Given the description of an element on the screen output the (x, y) to click on. 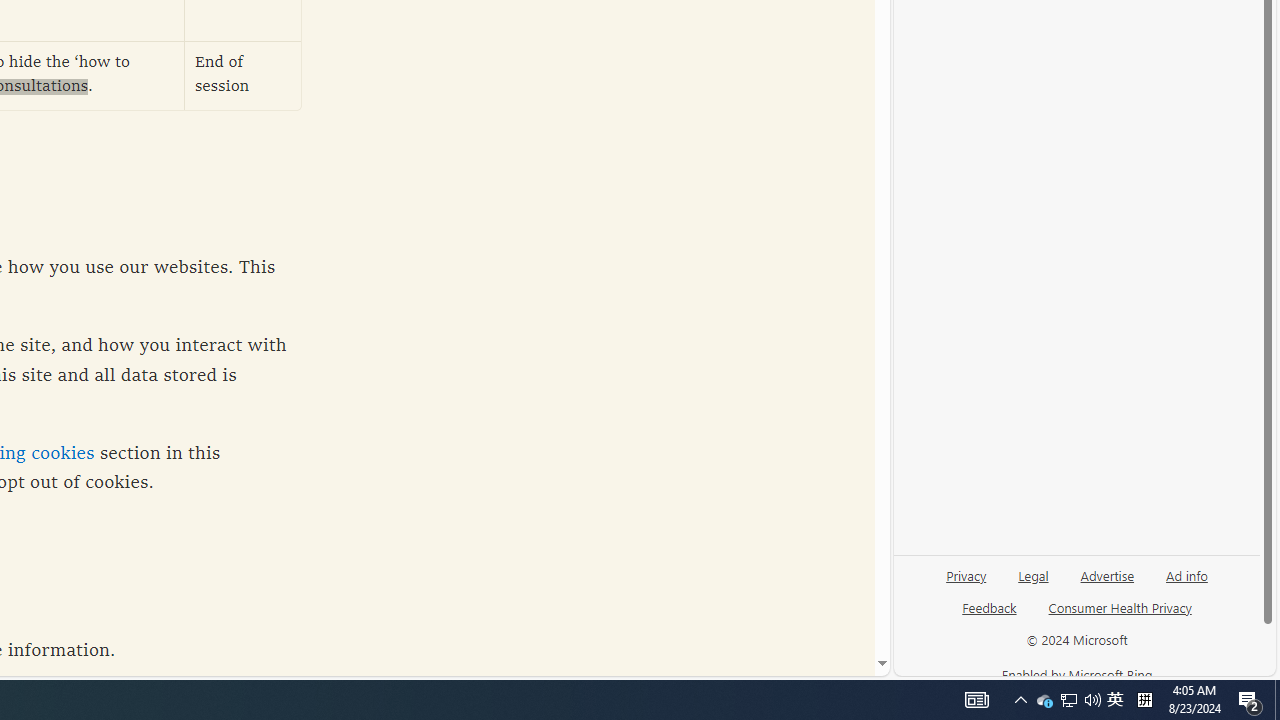
Consumer Health Privacy (1119, 615)
Privacy (966, 583)
Legal (1033, 574)
Legal (1033, 583)
Feedback (988, 615)
End of session (243, 75)
Ad info (1187, 574)
Advertise (1106, 583)
Advertise (1107, 574)
Ad info (1186, 583)
Consumer Health Privacy (1119, 607)
Feedback (989, 607)
Privacy (965, 574)
